Given the description of an element on the screen output the (x, y) to click on. 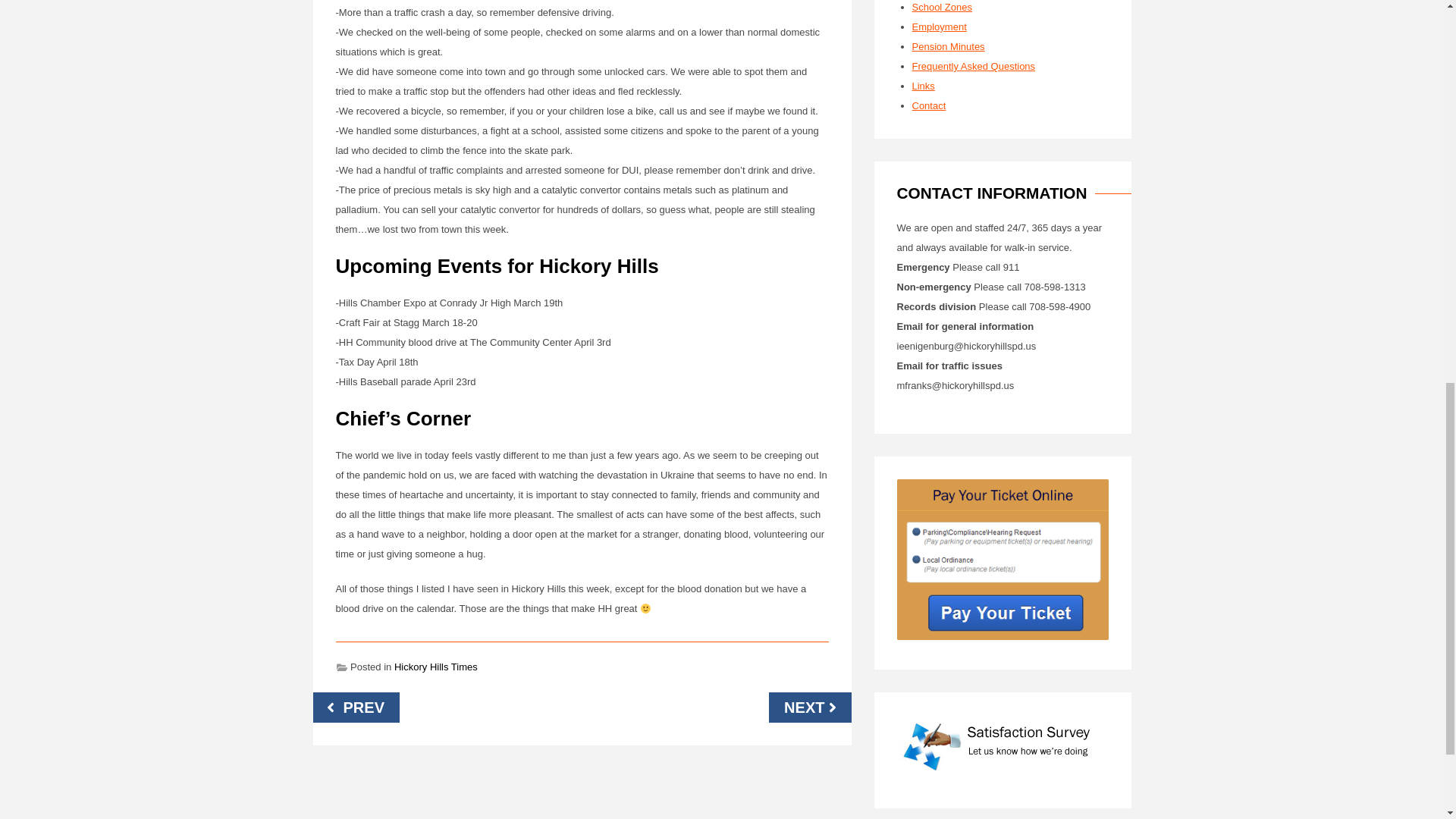
Frequently Asked Questions (973, 66)
Employment (938, 26)
Pension Minutes (947, 46)
Hickory Hills Times (435, 666)
Links (922, 85)
PREV (355, 707)
NEXT (809, 707)
Contact (927, 105)
School Zones (941, 7)
